Given the description of an element on the screen output the (x, y) to click on. 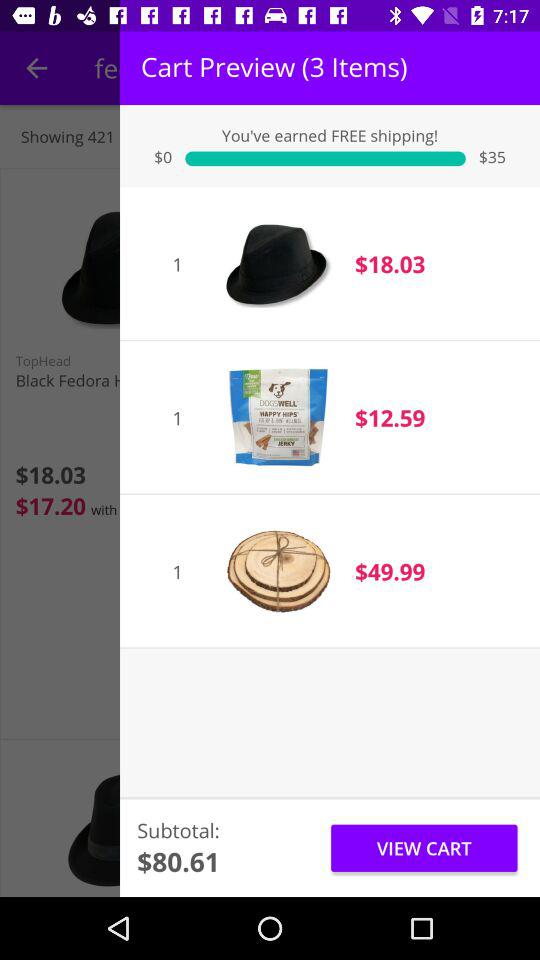
click on the image on left side of 4999 (277, 571)
select the second image which is before 1259 on a page (277, 417)
